Given the description of an element on the screen output the (x, y) to click on. 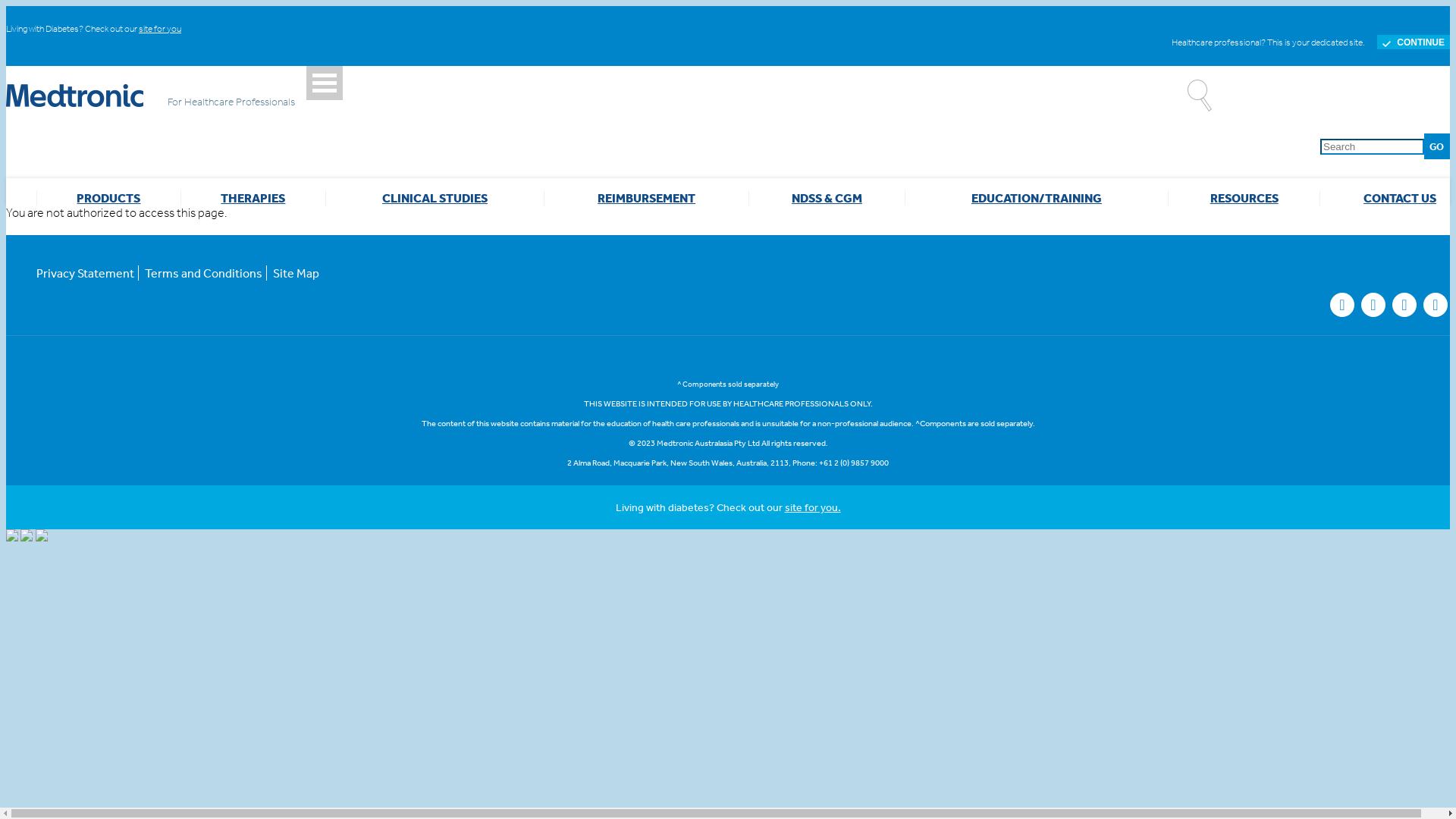
SEARCH Element type: text (1333, 172)
site for you Element type: text (159, 28)
Privacy Statement Element type: text (87, 272)
Enter the terms you wish to search for. Element type: hover (1372, 145)
CLINICAL STUDIES Element type: text (434, 197)
NDSS & CGM Element type: text (826, 197)
REIMBURSEMENT Element type: text (645, 197)
EDUCATION/TRAINING Element type: text (1036, 197)
Open Menu Element type: text (324, 82)
CONTINUE Element type: text (1413, 41)
Skip to main content Element type: text (6, 6)
THERAPIES Element type: text (252, 197)
CONTACT US Element type: text (1399, 197)
site for you. Element type: text (812, 507)
Site Map Element type: text (294, 272)
Terms and Conditions Element type: text (203, 272)
RESOURCES Element type: text (1244, 197)
For Healthcare Professionals Element type: text (156, 96)
PRODUCTS Element type: text (108, 197)
